Given the description of an element on the screen output the (x, y) to click on. 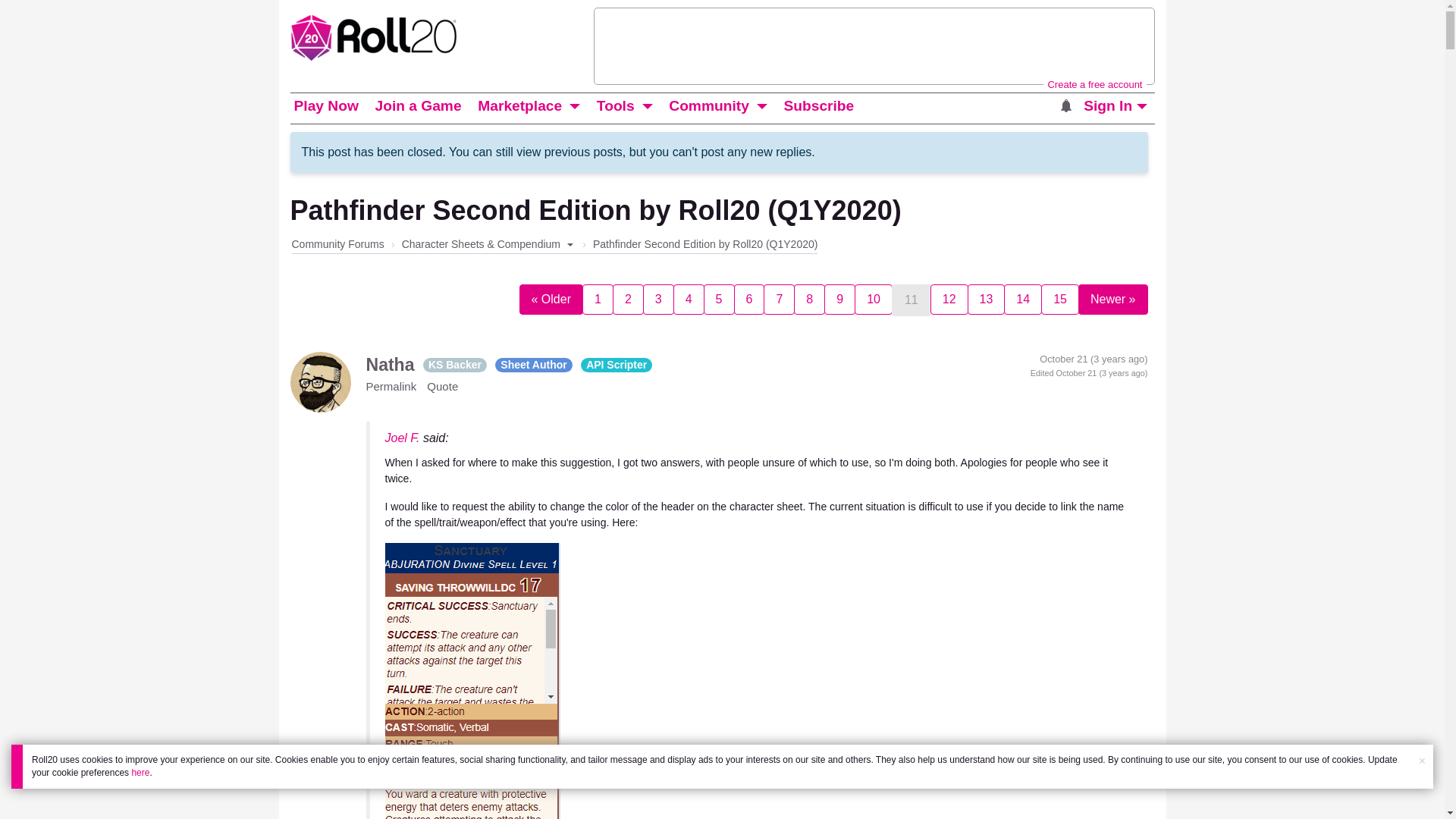
here (140, 772)
Play Now (325, 106)
Tools (615, 106)
Marketplace (520, 106)
Create a free account (1093, 84)
Join a Game (417, 106)
3rd party ad content (873, 46)
